Given the description of an element on the screen output the (x, y) to click on. 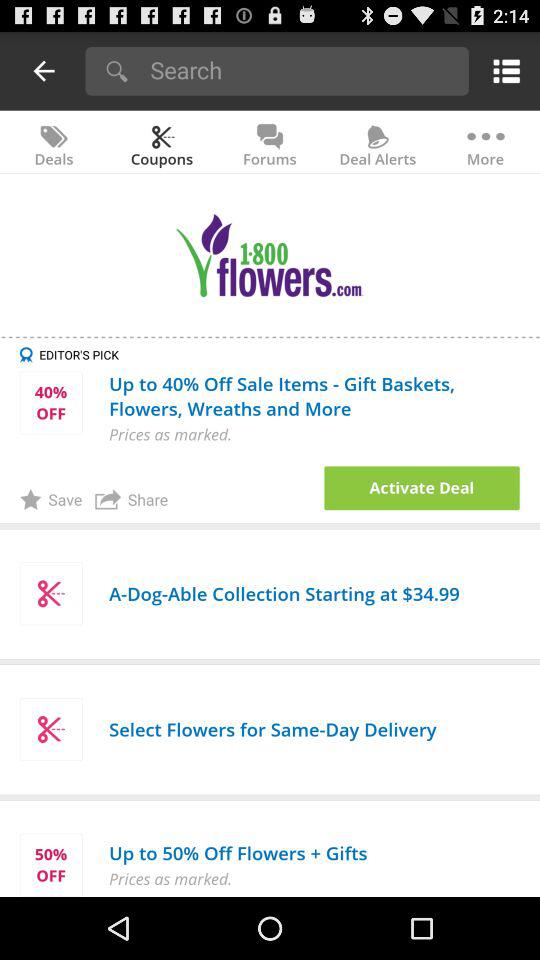
open the deal option (422, 488)
